Given the description of an element on the screen output the (x, y) to click on. 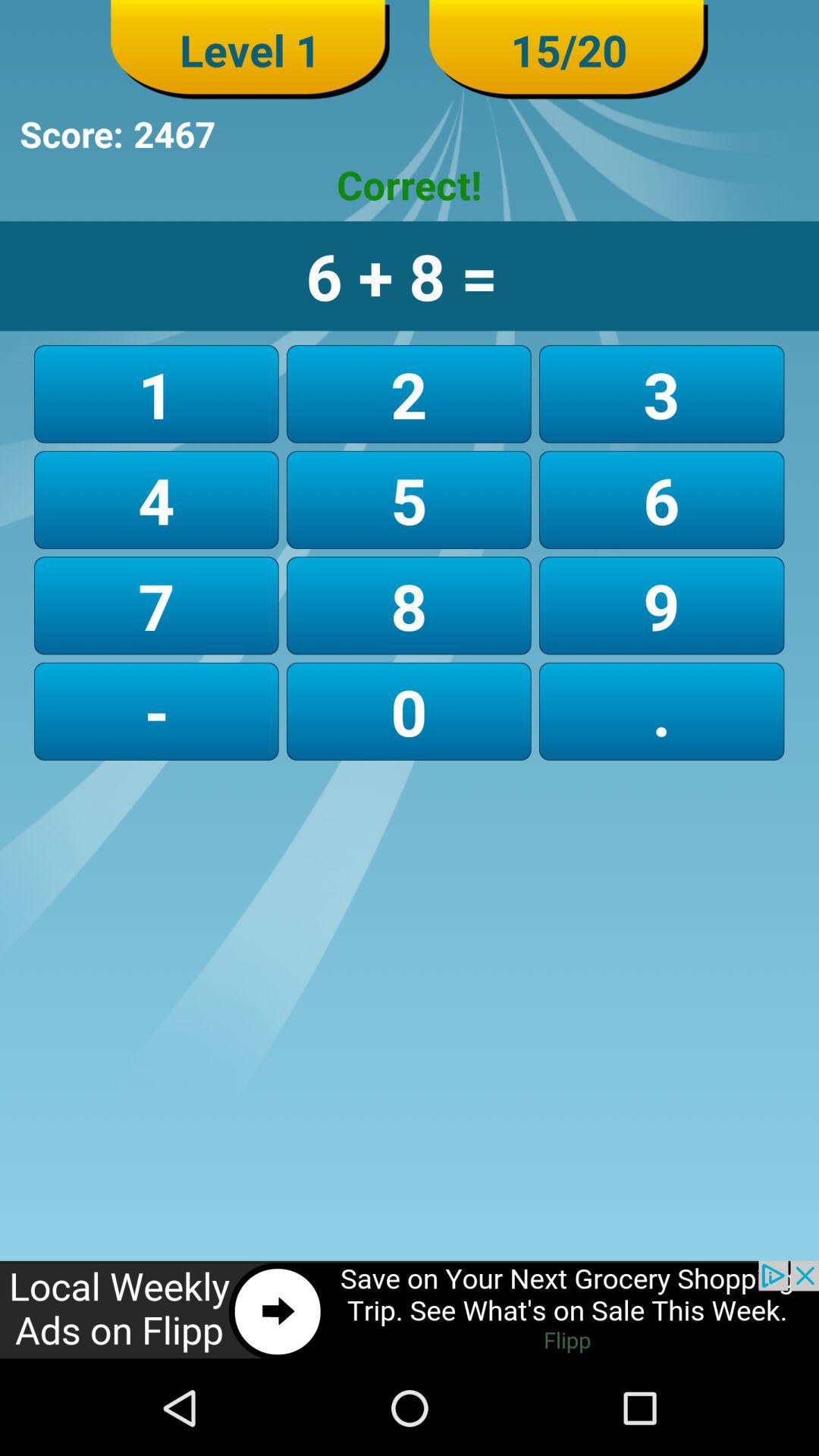
open the item below 7 button (408, 711)
